Given the description of an element on the screen output the (x, y) to click on. 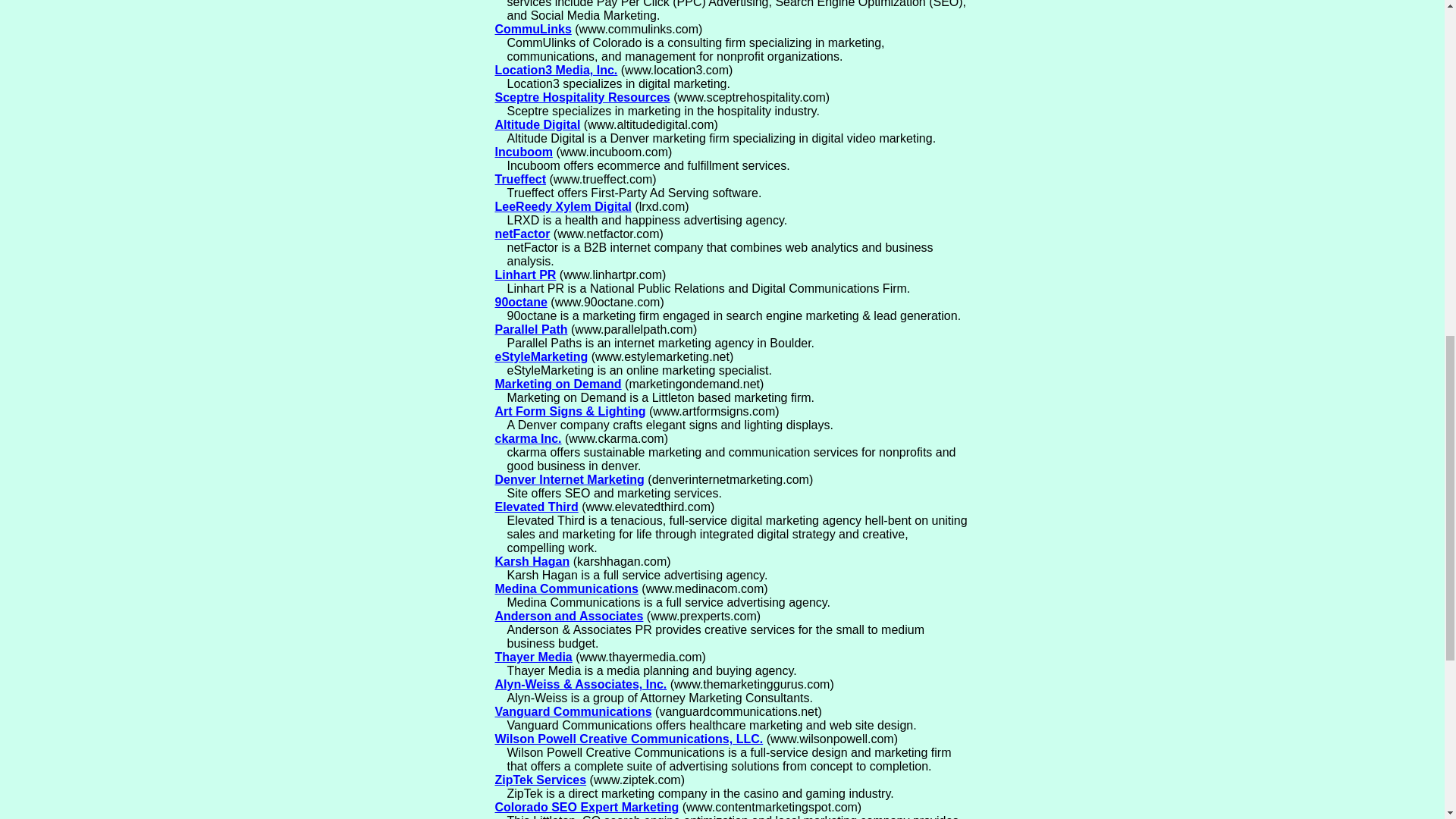
CommuLinks (532, 29)
eStyleMarketing (541, 356)
netFactor (522, 233)
ckarma Inc. (527, 438)
Trueffect (520, 178)
Incuboom (523, 151)
Altitude Digital (537, 124)
Parallel Path (531, 328)
Marketing on Demand (558, 383)
Sceptre Hospitality Resources (582, 97)
Denver Internet Marketing (569, 479)
Location3 Media, Inc. (556, 69)
LeeReedy Xylem Digital (563, 205)
90octane (521, 301)
Linhart PR (525, 274)
